Given the description of an element on the screen output the (x, y) to click on. 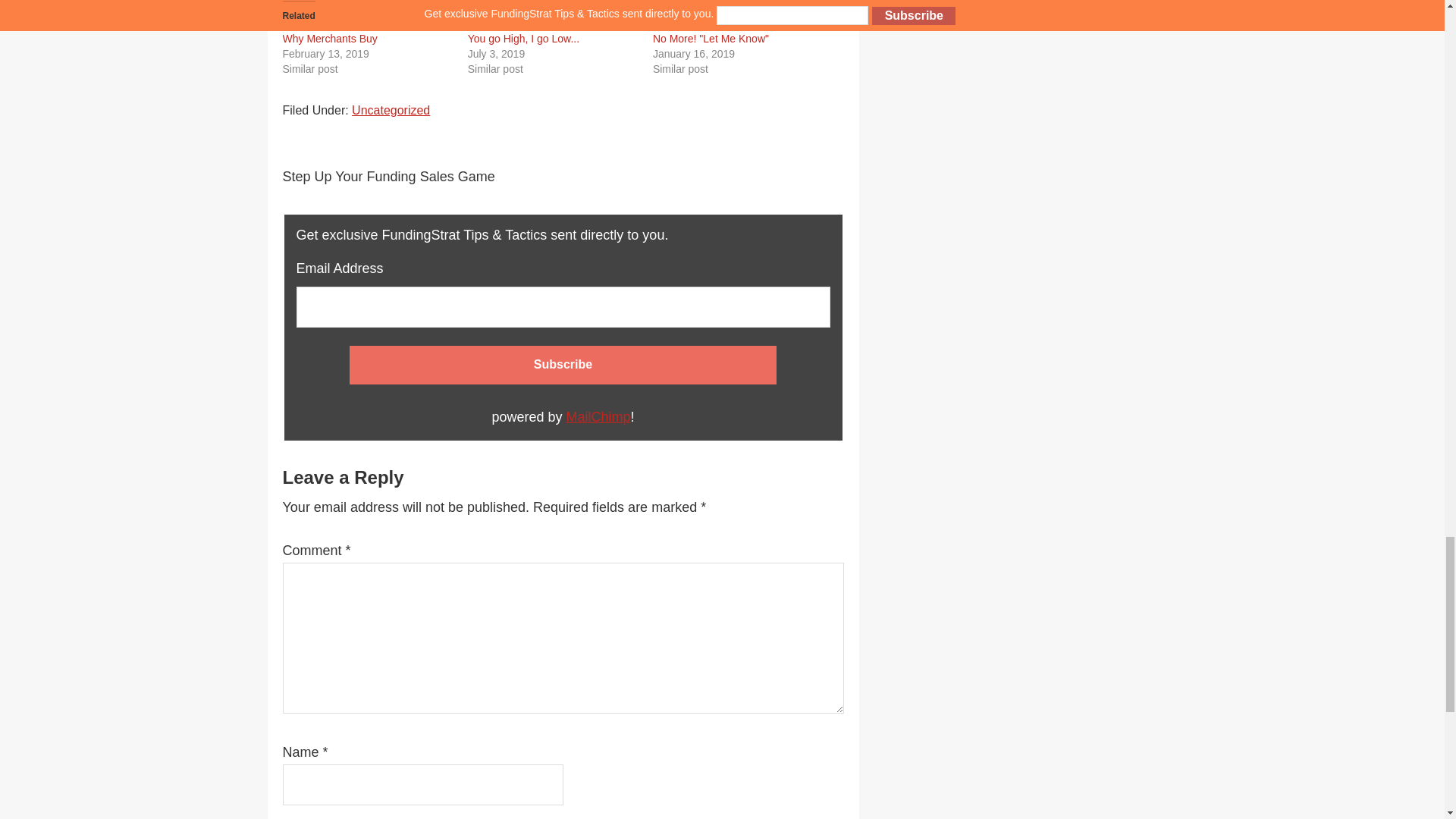
Why Merchants Buy (329, 38)
You go High, I go Low... (523, 38)
You go High, I go Low... (523, 38)
Uncategorized (390, 110)
No More!  "Let Me Know" (710, 38)
Subscribe (562, 364)
No More! "Let Me Know" (710, 38)
MailChimp (598, 417)
Why Merchants Buy (329, 38)
Subscribe (562, 364)
